Given the description of an element on the screen output the (x, y) to click on. 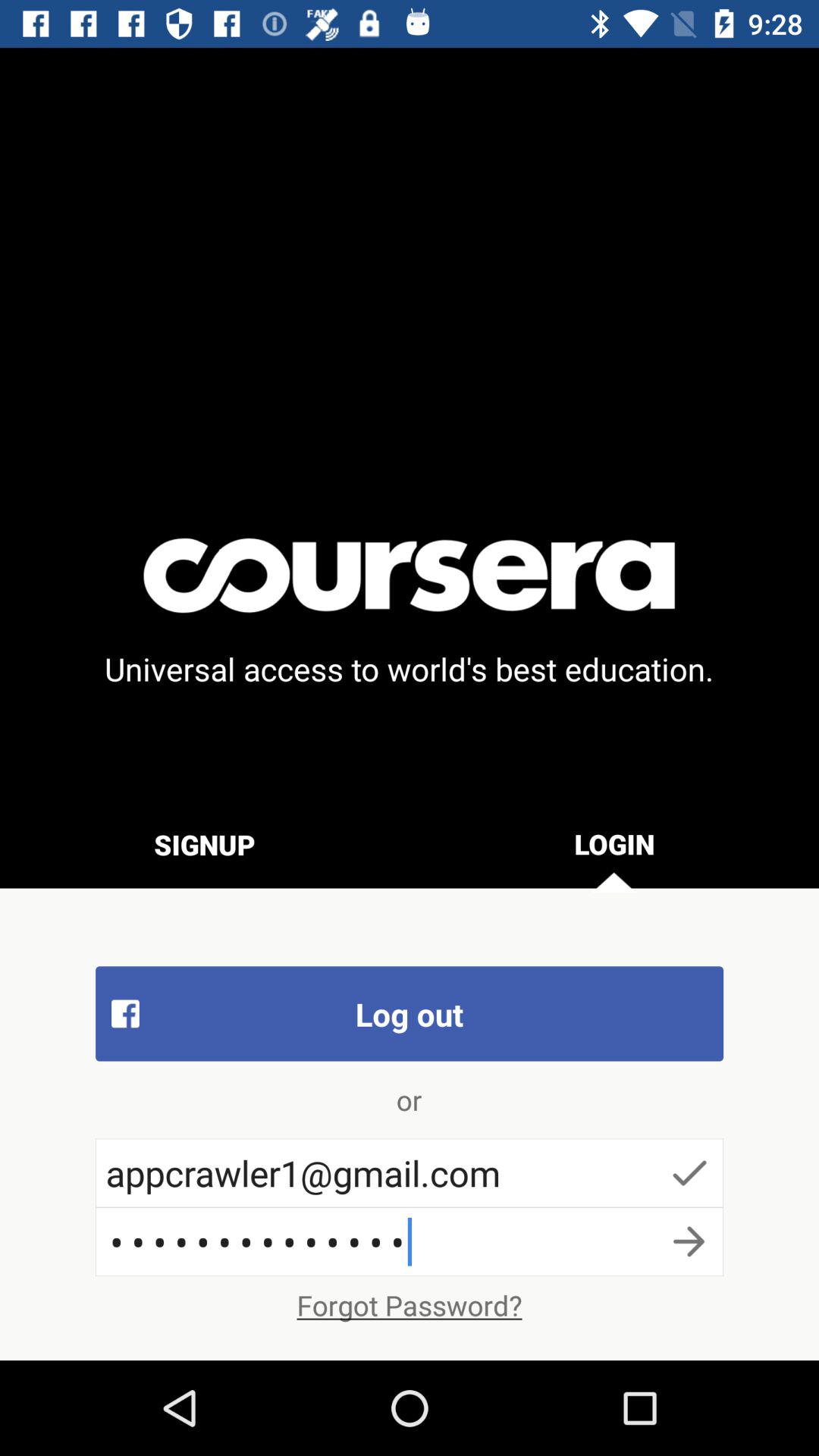
flip until appcrawler3116 icon (409, 1241)
